Given the description of an element on the screen output the (x, y) to click on. 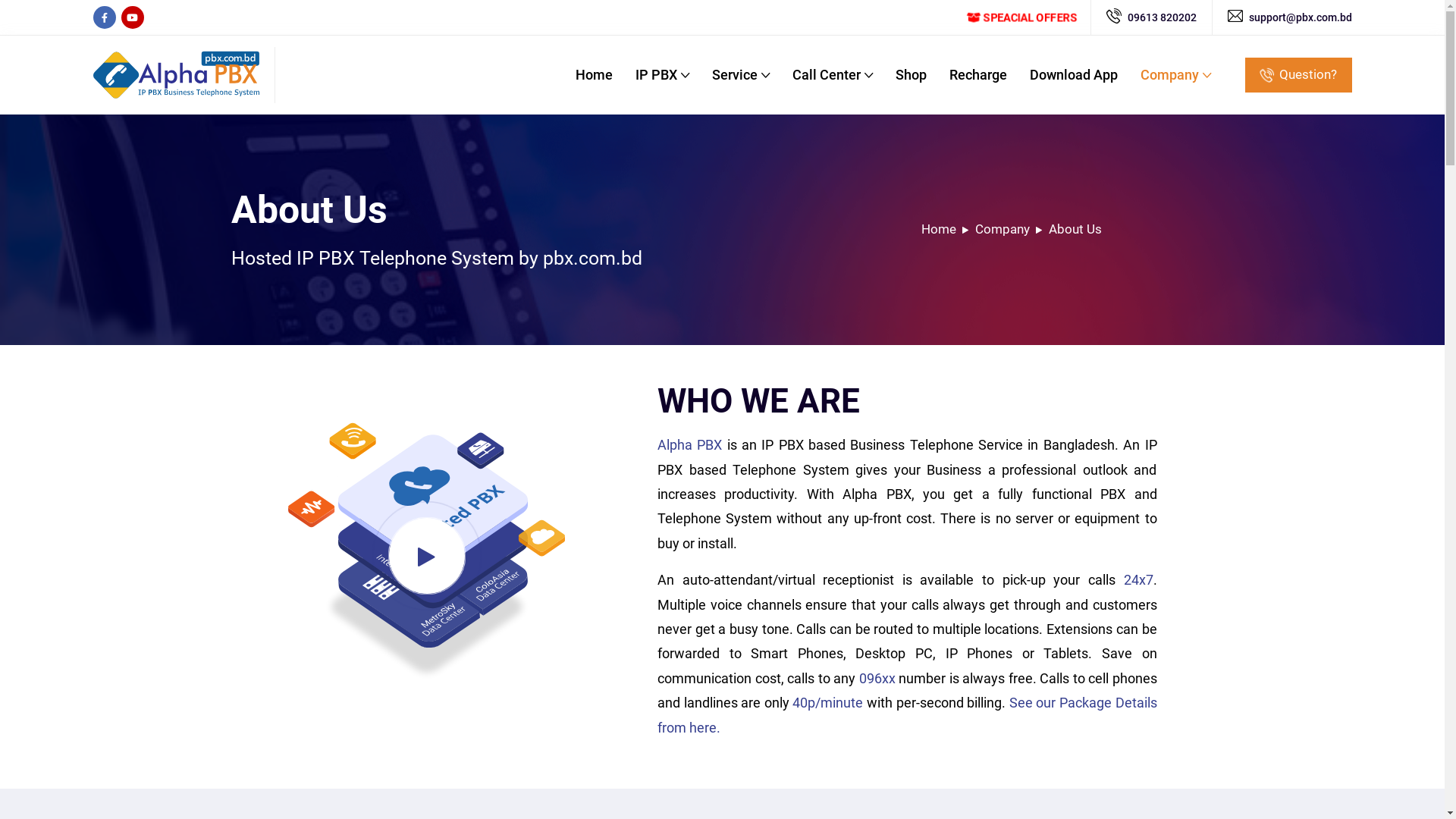
Shop Element type: text (909, 74)
Recharge Element type: text (978, 74)
Home Element type: text (937, 228)
support@pbx.com.bd Element type: text (1299, 17)
09613 820202 Element type: text (1160, 17)
Service Element type: text (739, 74)
Download App Element type: text (1073, 74)
Call Center Element type: text (831, 74)
See our Package Details from here. Element type: text (907, 714)
IP PBX Element type: text (662, 74)
SPEACIAL OFFERS Element type: text (1020, 17)
Home Element type: text (592, 74)
Company Element type: text (1002, 228)
Company Element type: text (1175, 74)
Question? Element type: text (1298, 74)
